Given the description of an element on the screen output the (x, y) to click on. 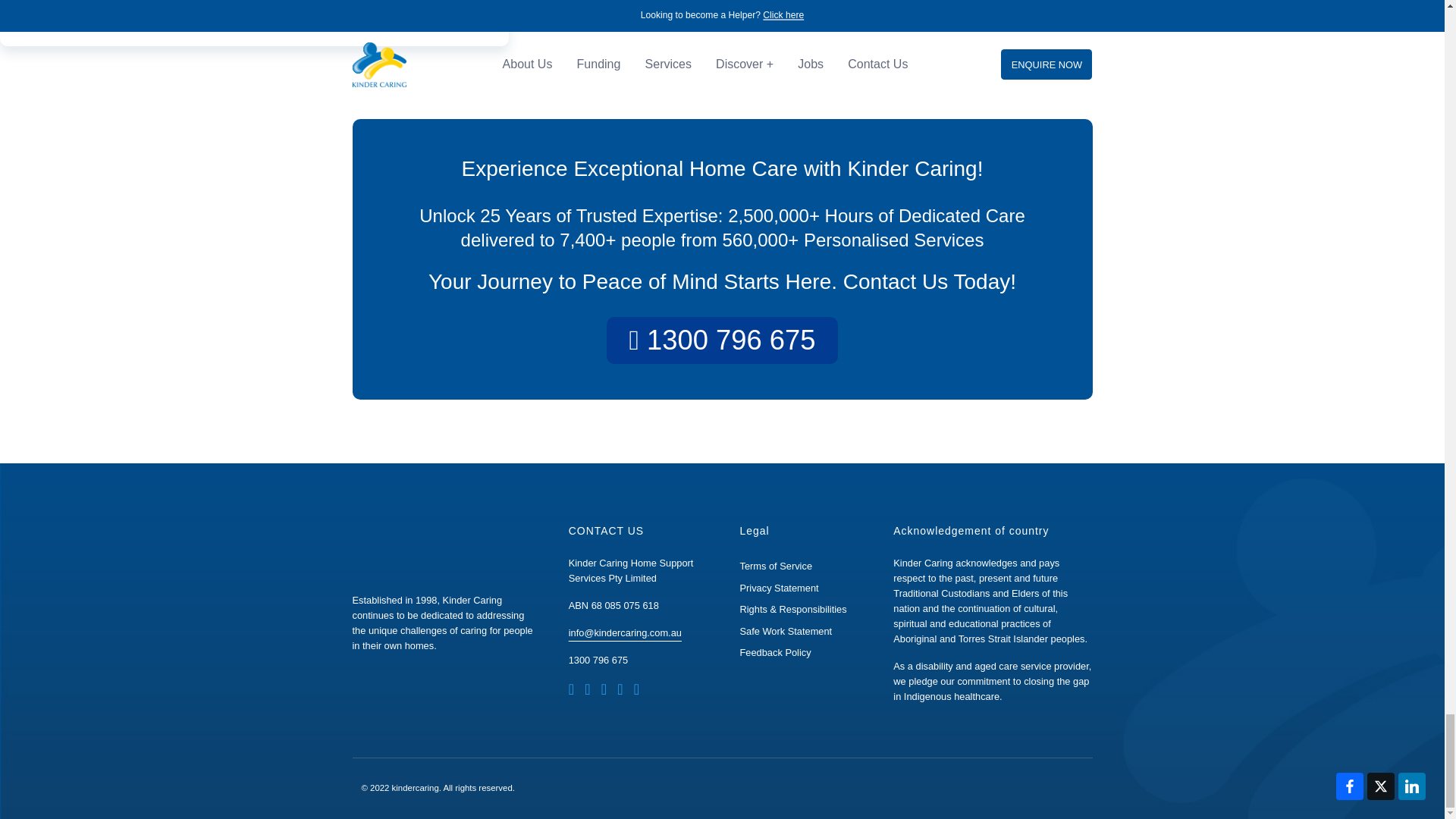
1300 796 675 (722, 339)
Safe Work Statement (785, 631)
1300 796 675 (598, 659)
Feedback Policy (774, 652)
Terms of Service (775, 565)
Privacy Statement (778, 587)
